Given the description of an element on the screen output the (x, y) to click on. 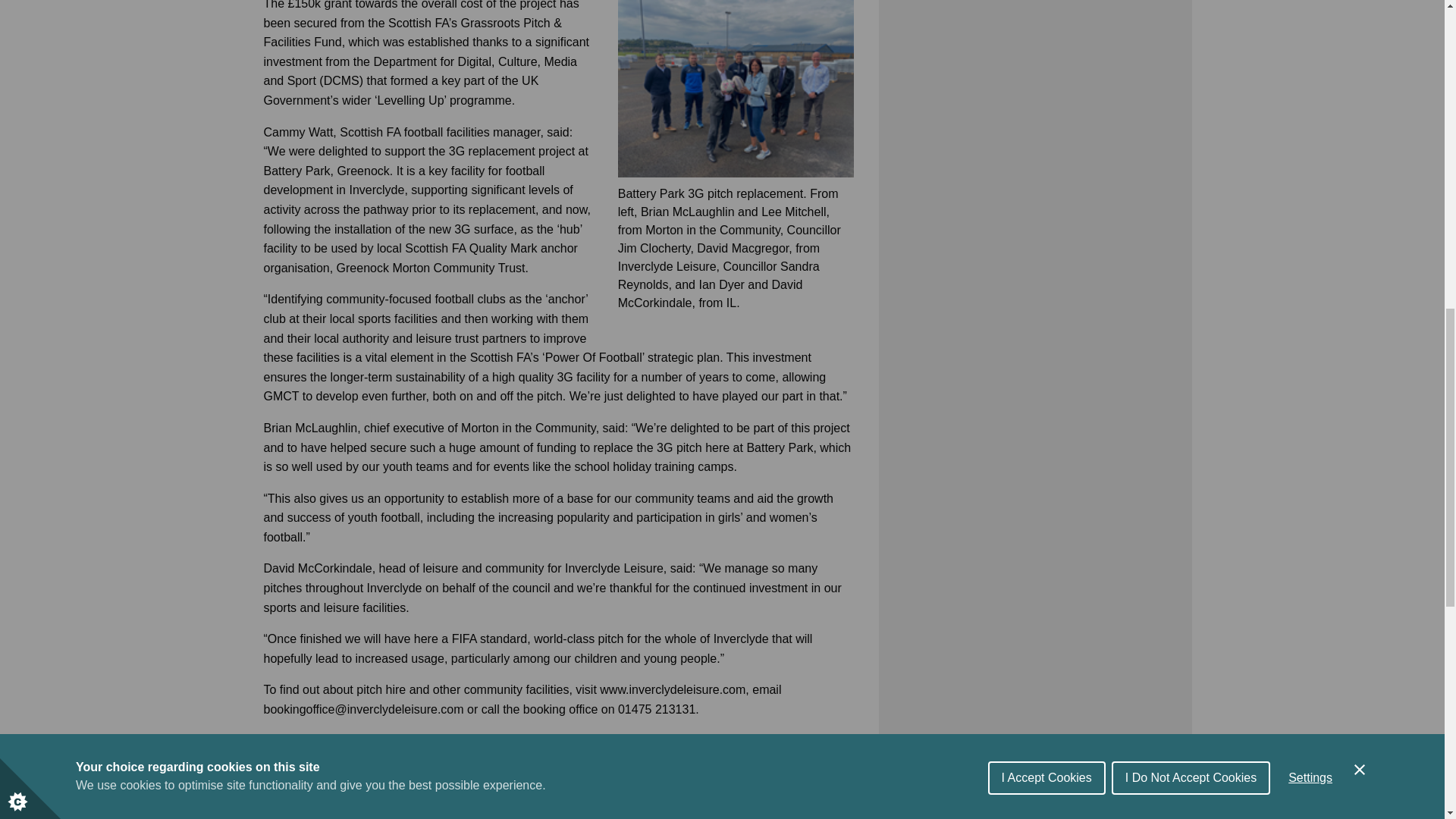
I Accept Cookies (1046, 24)
Settings (1309, 5)
I Do Not Accept Cookies (1190, 12)
